Given the description of an element on the screen output the (x, y) to click on. 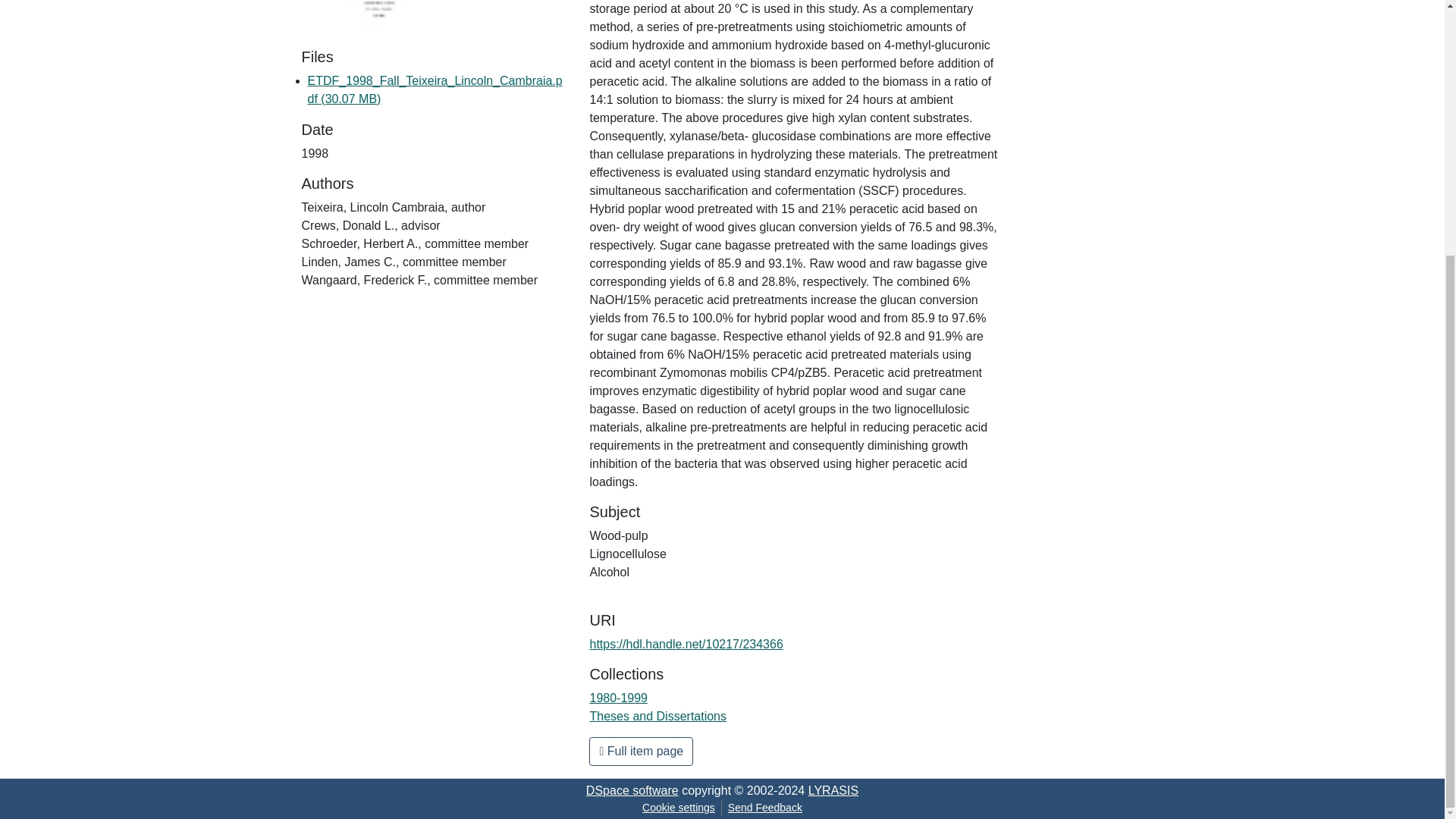
1980-1999 (618, 697)
Full item page (641, 751)
Send Feedback (765, 807)
Cookie settings (678, 807)
DSpace software (632, 789)
Theses and Dissertations (657, 716)
LYRASIS (833, 789)
